Given the description of an element on the screen output the (x, y) to click on. 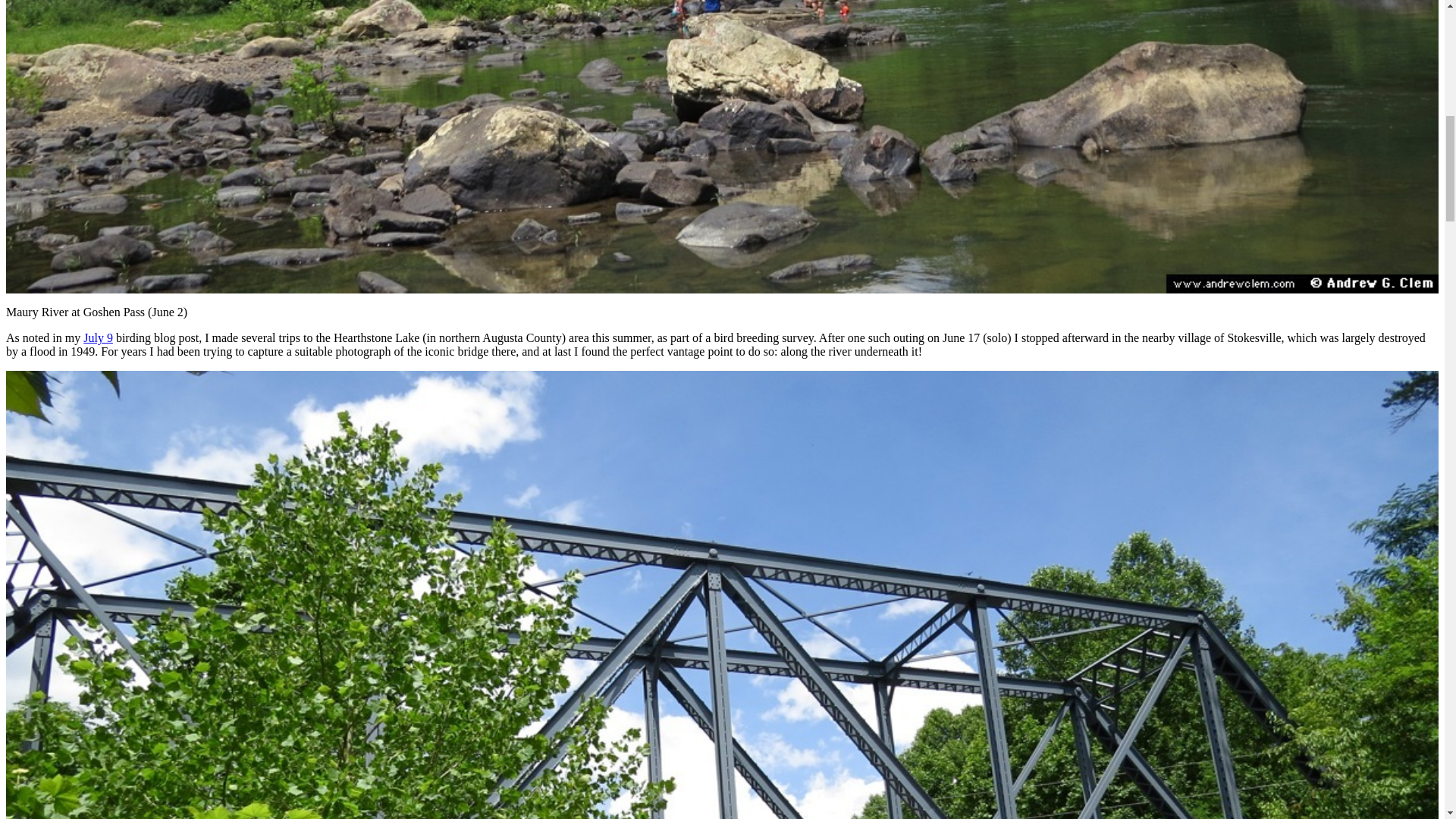
July 9 (97, 337)
